Given the description of an element on the screen output the (x, y) to click on. 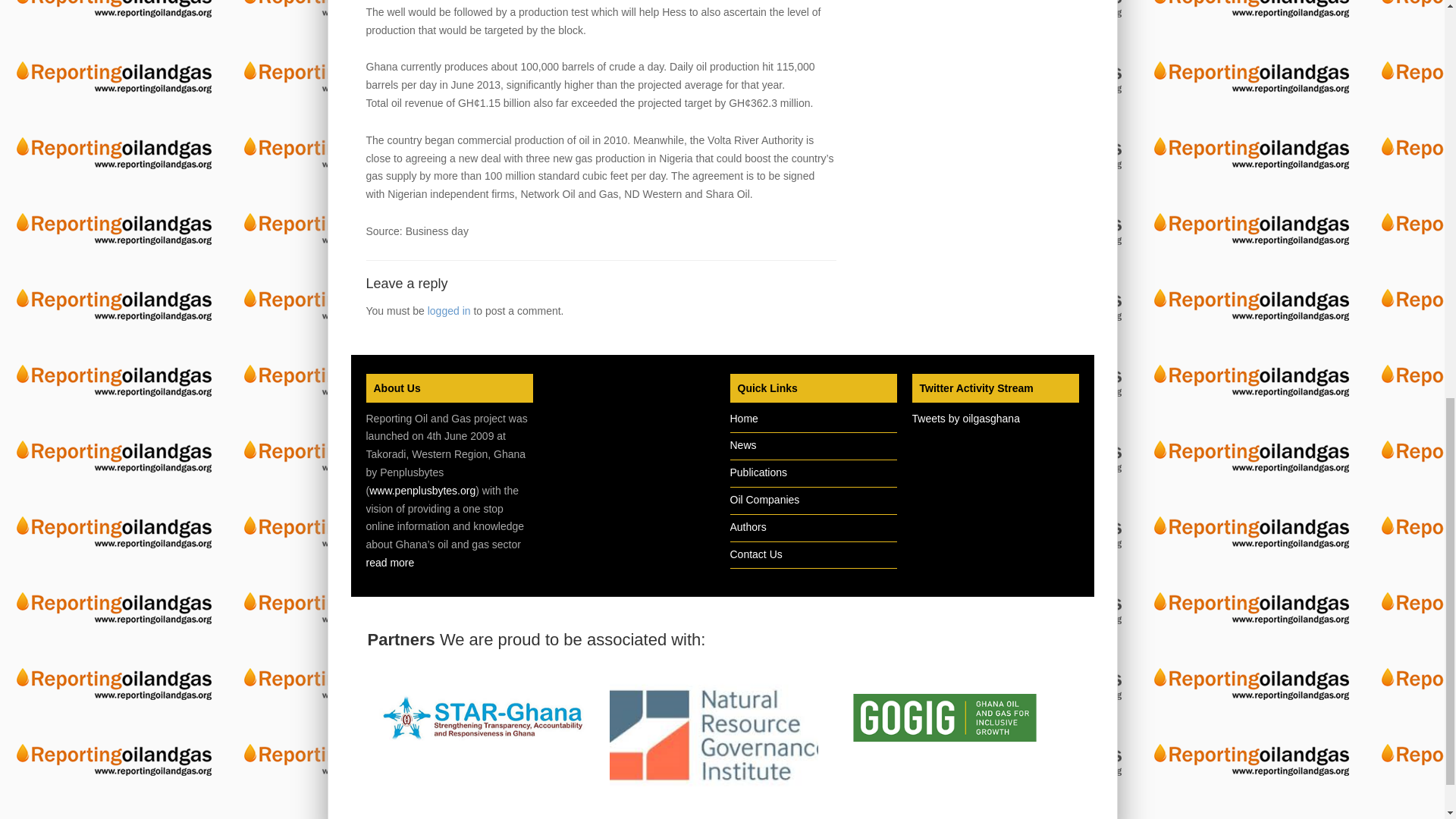
Oil Companies (764, 499)
logged in (449, 310)
Home (743, 418)
Contact Us (755, 553)
www.penplusbytes.org (422, 490)
Authors (747, 526)
read more (389, 562)
Publications (758, 472)
News (742, 444)
